Given the description of an element on the screen output the (x, y) to click on. 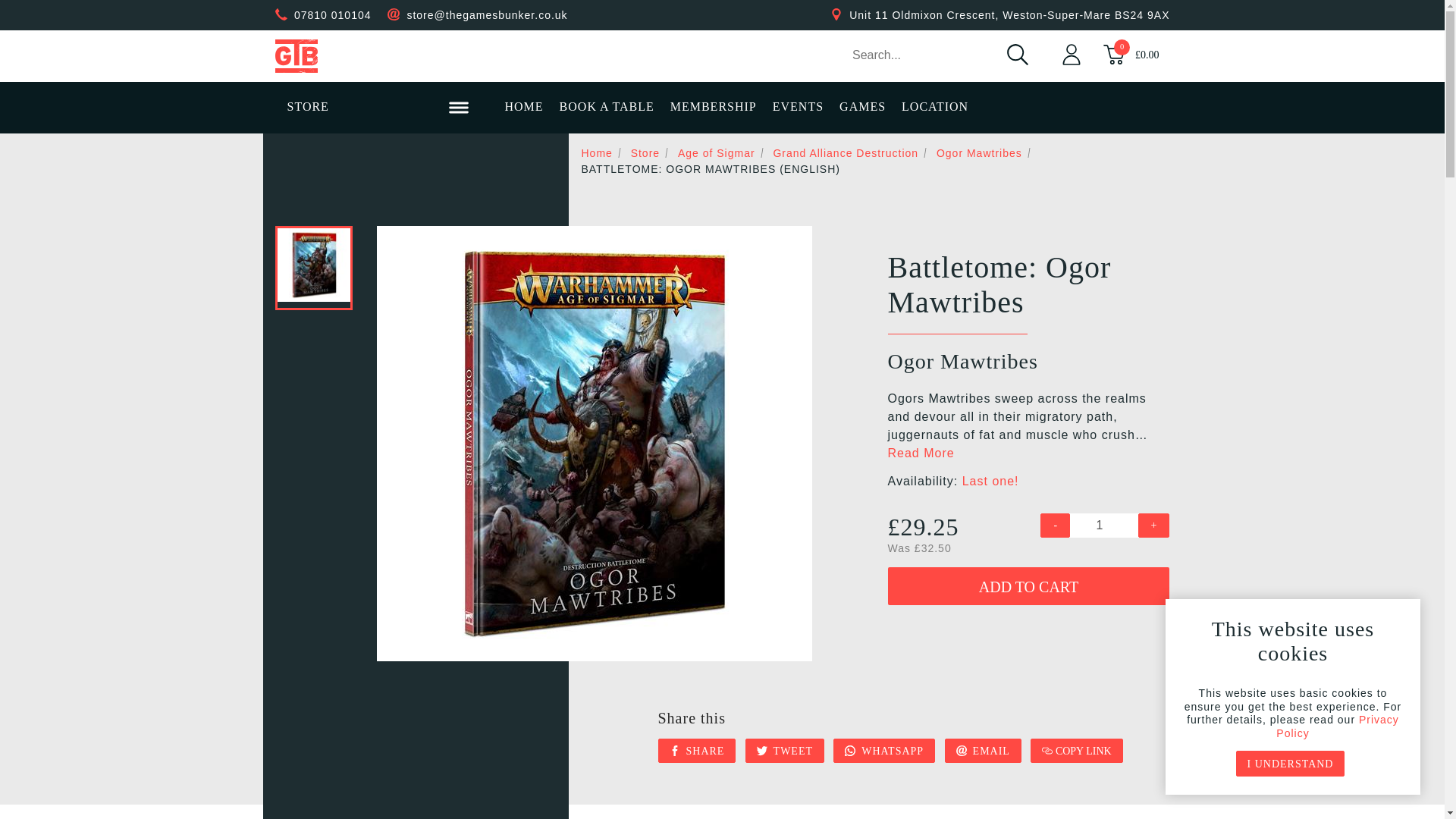
1 (1105, 525)
07810 010104 (332, 15)
Find us (1008, 15)
Return home (377, 55)
Unit 11 Oldmixon Crescent, Weston-Super-Mare BS24 9AX (1008, 15)
